Given the description of an element on the screen output the (x, y) to click on. 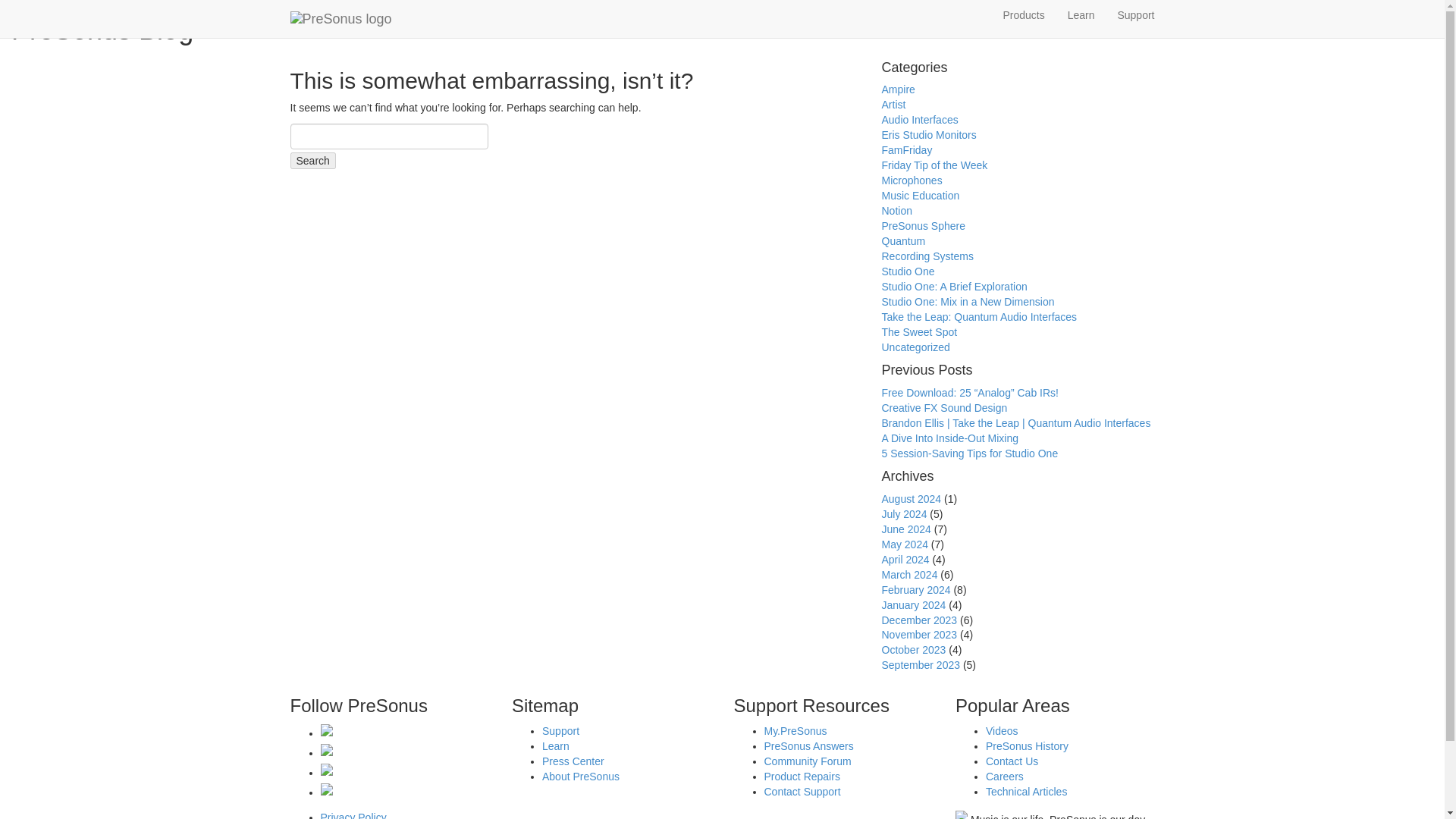
Ampire (897, 89)
Learn (1081, 15)
PreSonus Sphere (922, 225)
Artist (892, 104)
Notion (895, 210)
FamFriday (905, 150)
Products (1023, 15)
Friday Tip of the Week (933, 164)
Music Education (919, 195)
Audio Interfaces (919, 119)
Search (311, 160)
Eris Studio Monitors (927, 134)
Search (311, 160)
Support (1135, 15)
Microphones (911, 180)
